Given the description of an element on the screen output the (x, y) to click on. 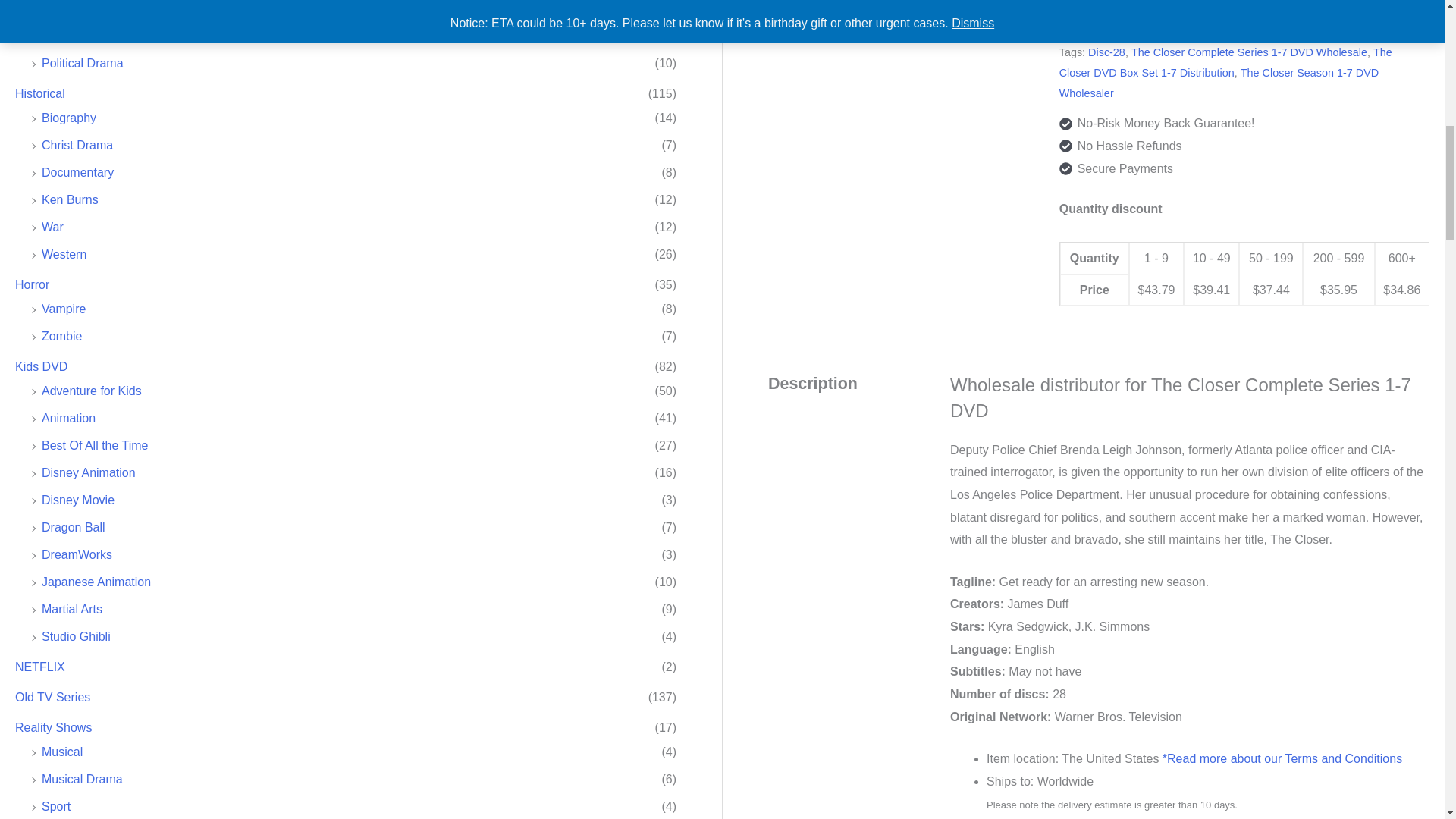
Historical (39, 92)
Biography (69, 117)
Legal Drama (77, 8)
Police Procedural (89, 35)
Political Drama (82, 62)
